Given the description of an element on the screen output the (x, y) to click on. 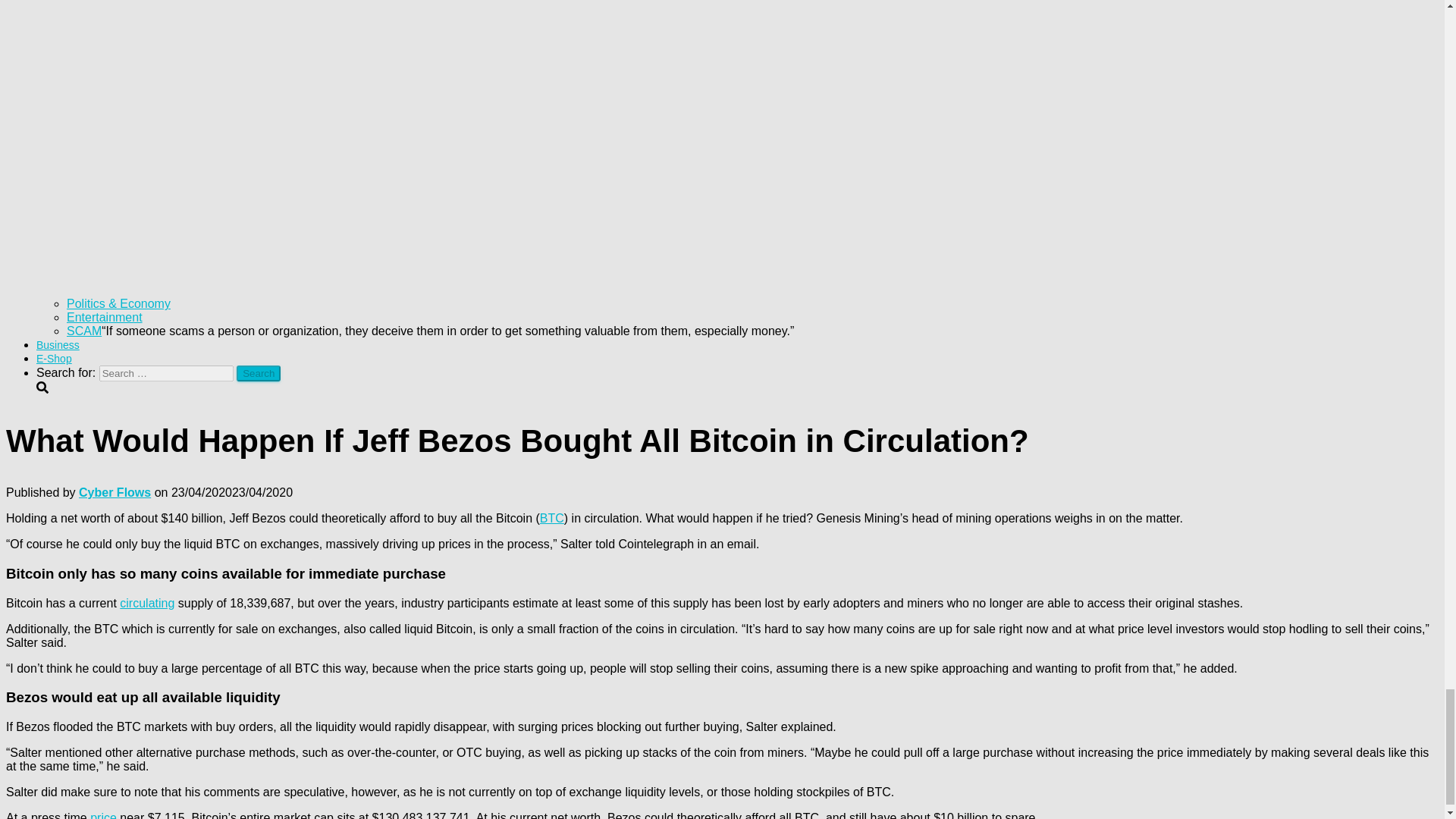
circulating (146, 603)
Business (58, 345)
BTC (552, 517)
Search (258, 373)
SCAM (83, 330)
E-Shop (53, 358)
Search (258, 373)
Search (258, 373)
Cyber Flows (114, 492)
Entertainment (104, 317)
